Given the description of an element on the screen output the (x, y) to click on. 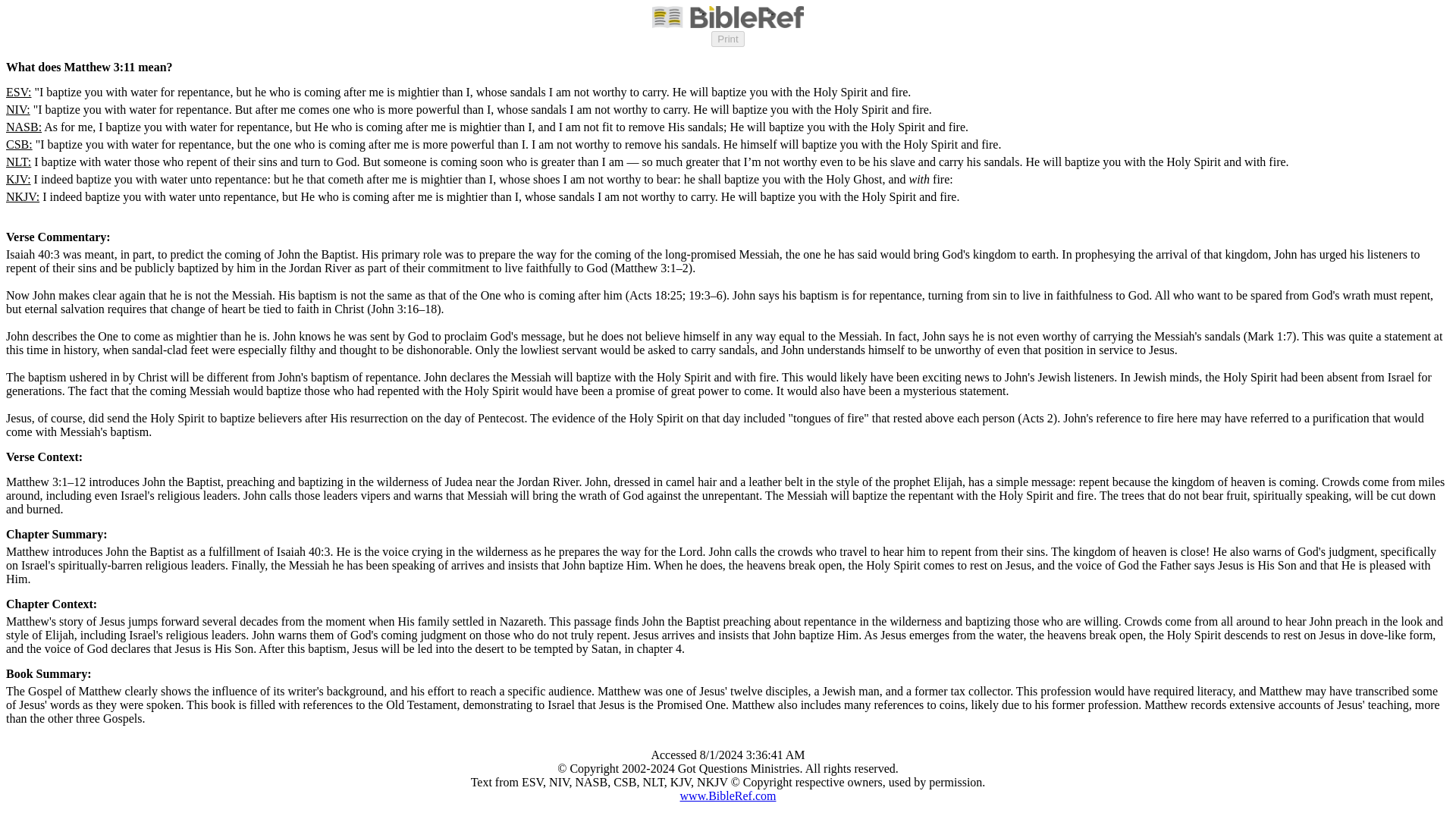
Print (727, 38)
